Given the description of an element on the screen output the (x, y) to click on. 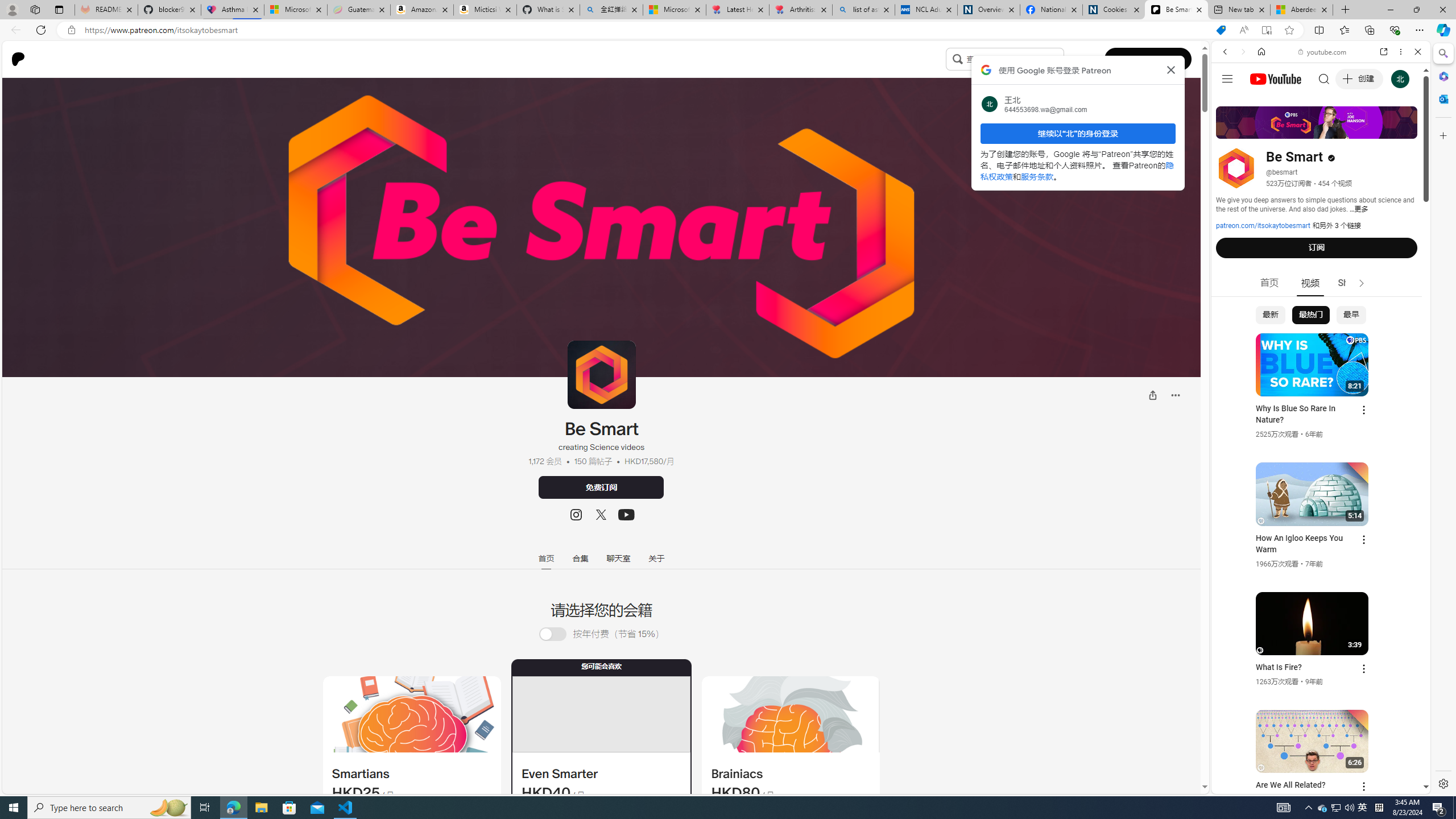
Close Customize pane (1442, 135)
Trailer #2 [HD] (1320, 337)
Class: sc-jrQzAO inFiZu (957, 58)
Web scope (1230, 102)
Google (1320, 281)
Microsoft-Report a Concern to Bing (295, 9)
YouTube (1315, 655)
